Given the description of an element on the screen output the (x, y) to click on. 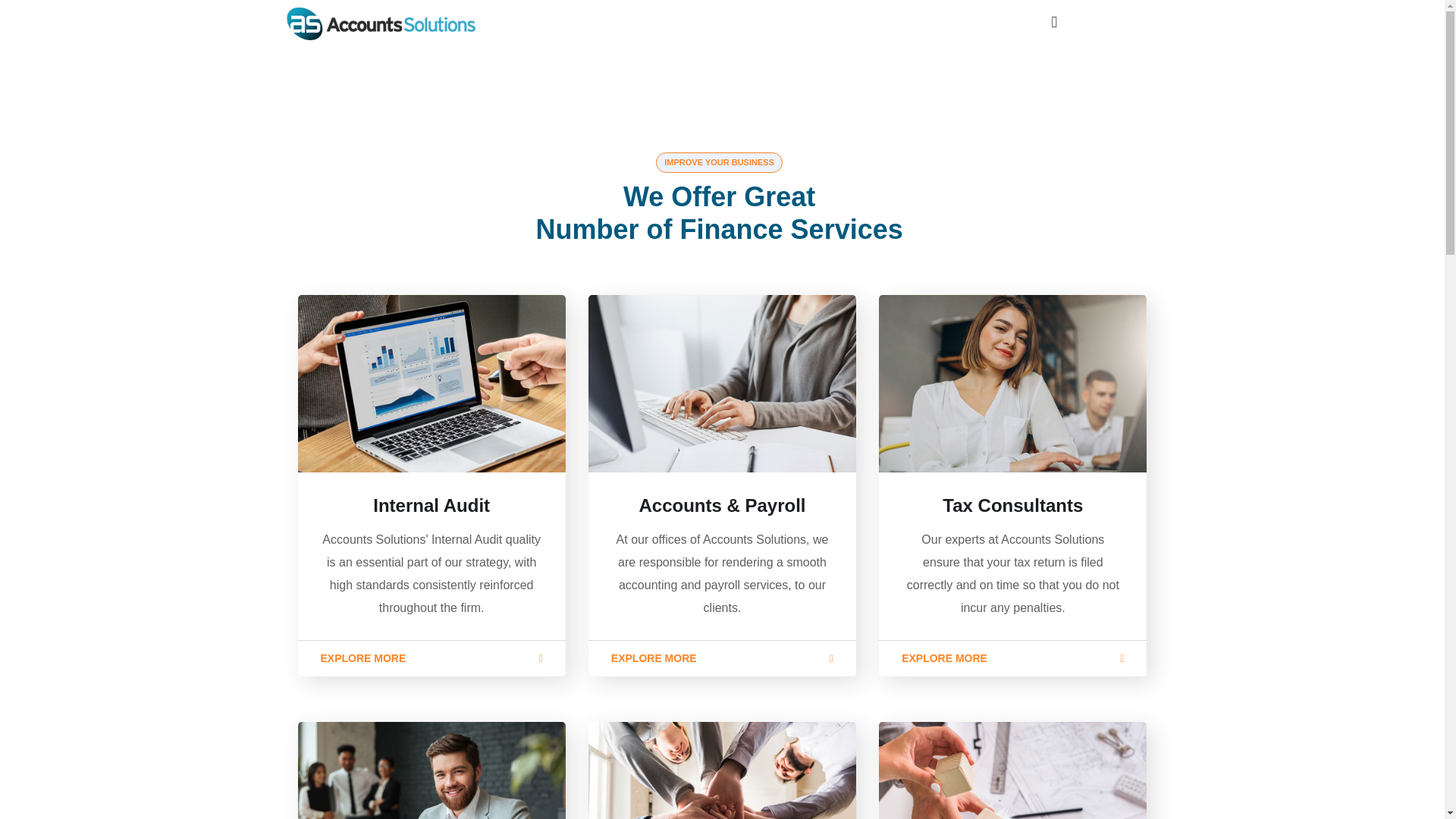
EXPLORE MORE (430, 657)
Internal Audit (430, 505)
EXPLORE MORE (722, 657)
Tax Consultants (1012, 505)
EXPLORE MORE (1013, 657)
